Given the description of an element on the screen output the (x, y) to click on. 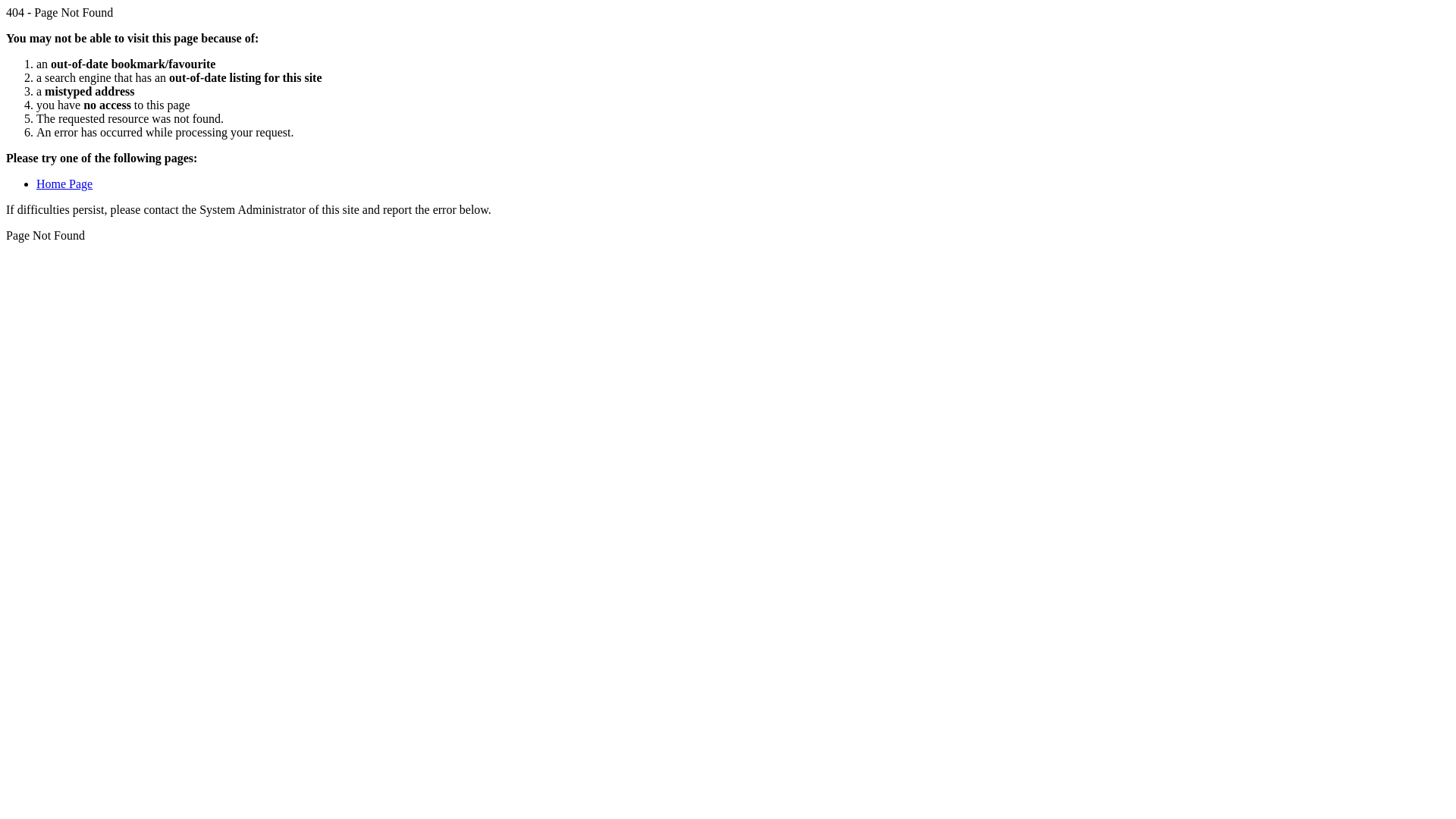
Home Page Element type: text (64, 183)
